Given the description of an element on the screen output the (x, y) to click on. 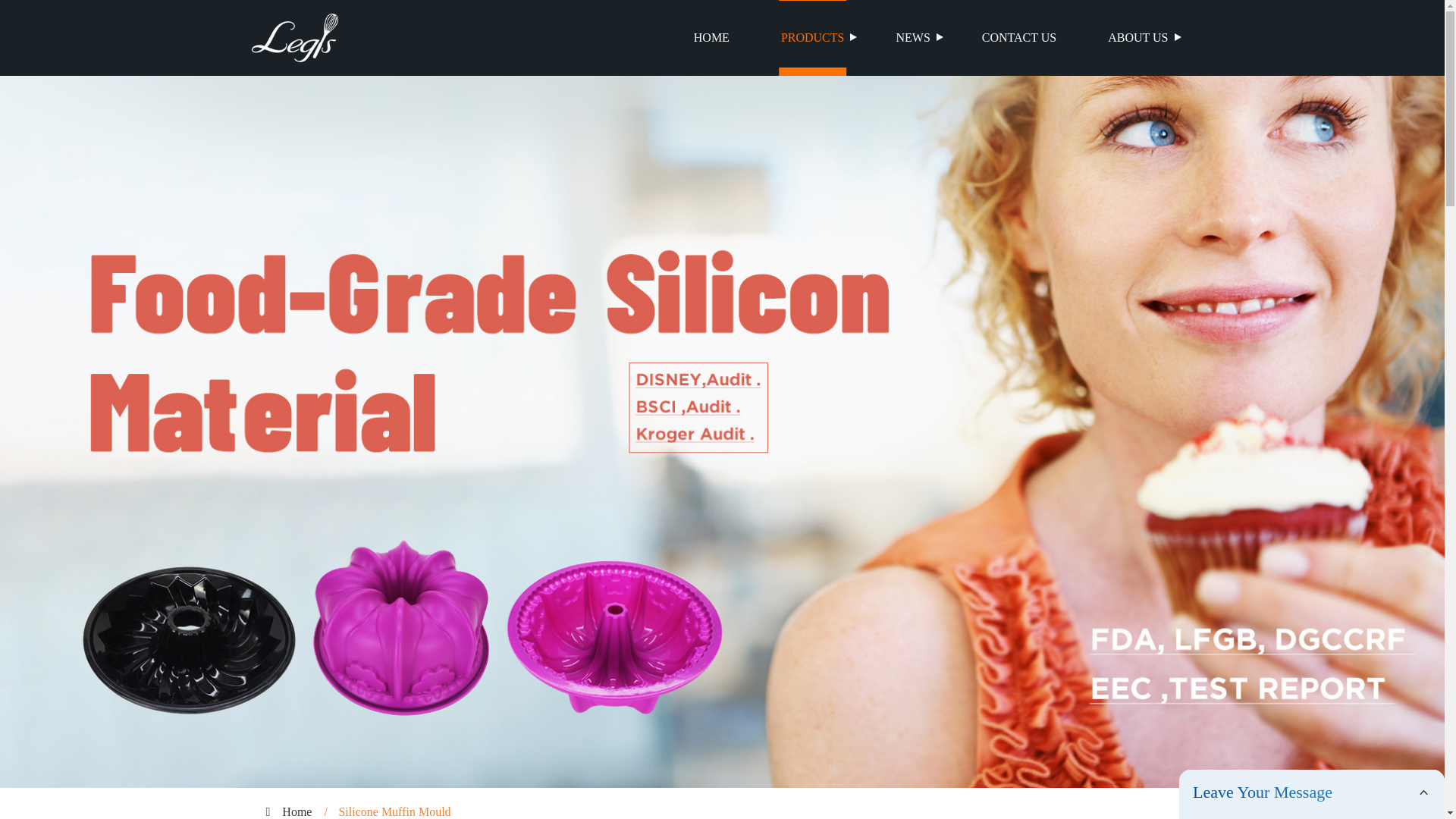
PRODUCTS (812, 38)
CONTACT US (1018, 38)
Home (296, 811)
